Given the description of an element on the screen output the (x, y) to click on. 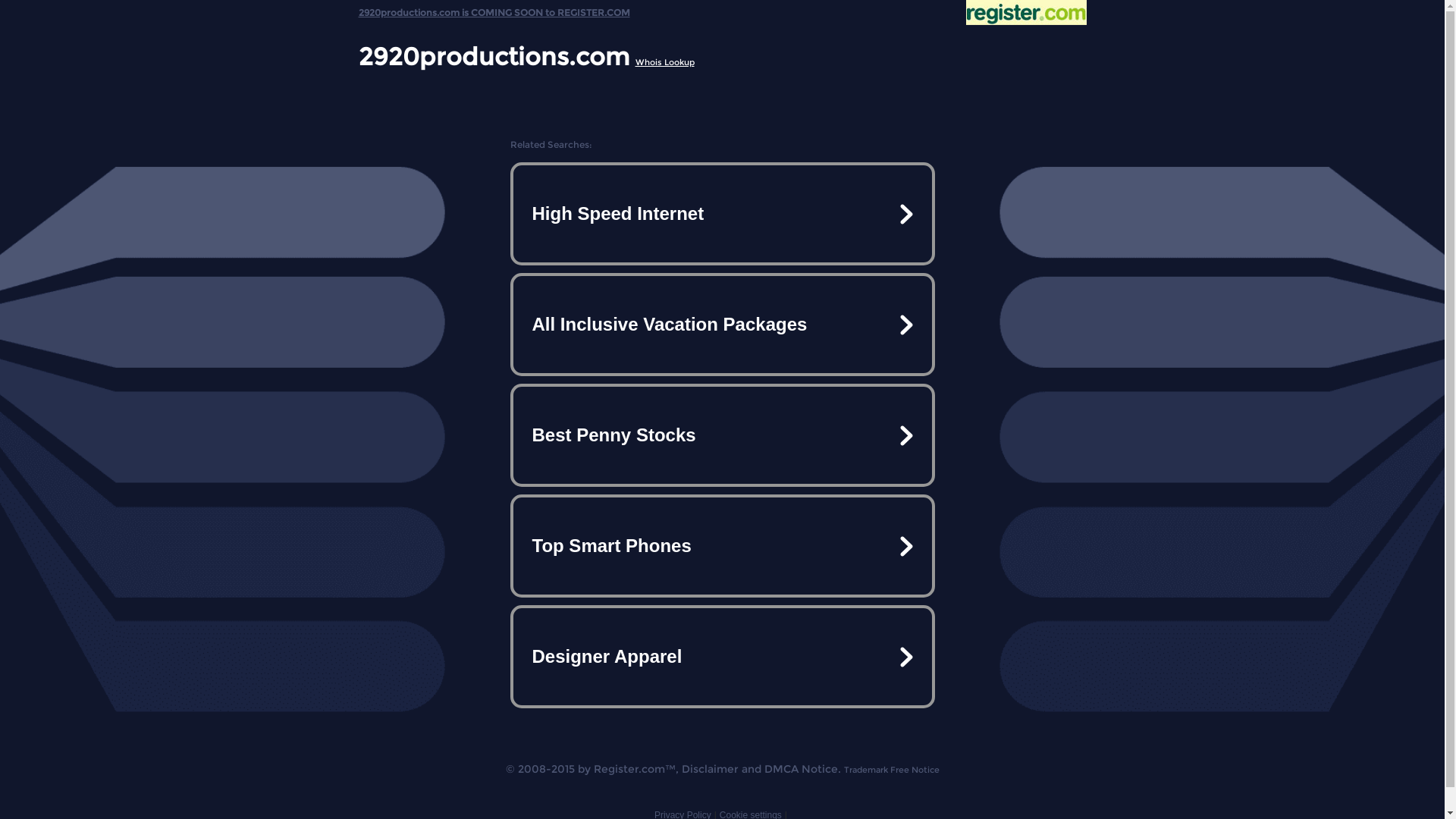
Designer Apparel Element type: text (721, 656)
High Speed Internet Element type: text (721, 213)
Trademark Free Notice Element type: text (890, 769)
Top Smart Phones Element type: text (721, 545)
2920productions.com is COMING SOON to REGISTER.COM Element type: text (493, 9)
All Inclusive Vacation Packages Element type: text (721, 324)
Whois Lookup Element type: text (664, 61)
Best Penny Stocks Element type: text (721, 434)
2920productions.com Element type: text (492, 56)
